Given the description of an element on the screen output the (x, y) to click on. 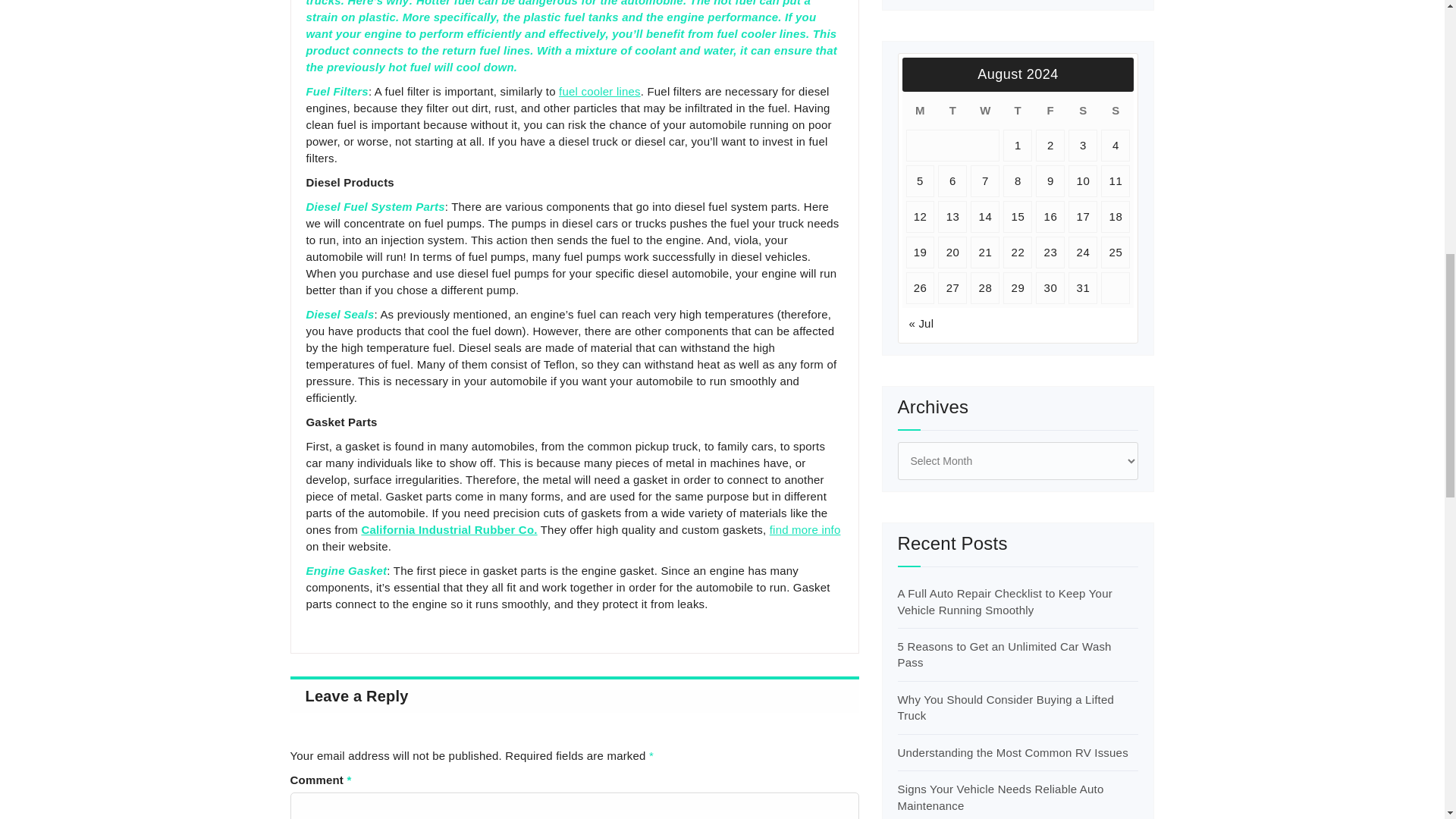
Sunday (1114, 110)
Friday (1049, 110)
Thursday (1017, 110)
Signs Your Vehicle Needs Reliable Auto Maintenance (1000, 796)
find more info (805, 529)
Wednesday (984, 110)
5 Reasons to Get an Unlimited Car Wash Pass (1005, 654)
fuel cooler lines (599, 91)
Tuesday (951, 110)
